Given the description of an element on the screen output the (x, y) to click on. 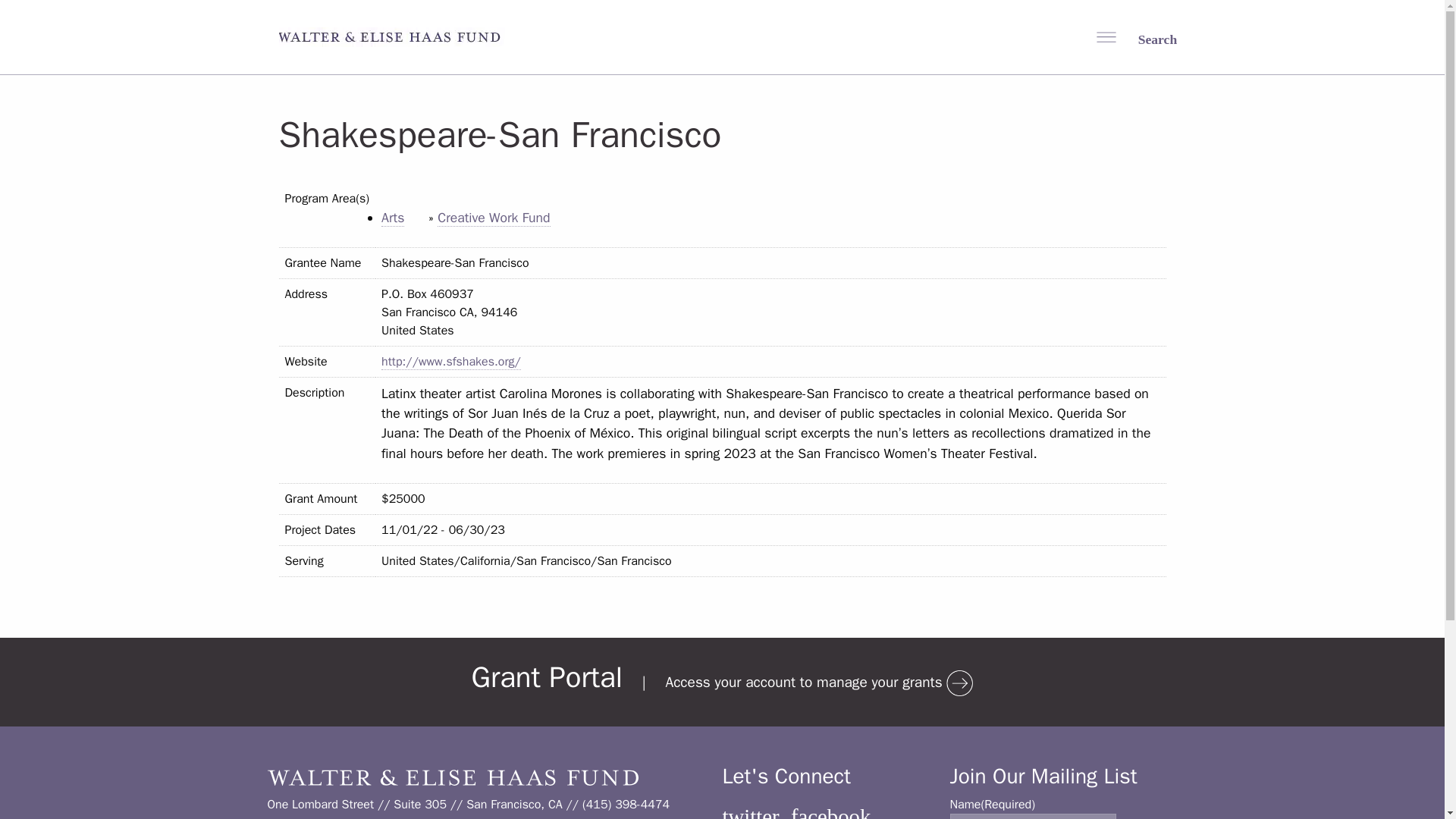
Arts (392, 217)
Search (1147, 38)
facebook (830, 811)
Creative Work Fund (494, 217)
twitter (750, 811)
